Given the description of an element on the screen output the (x, y) to click on. 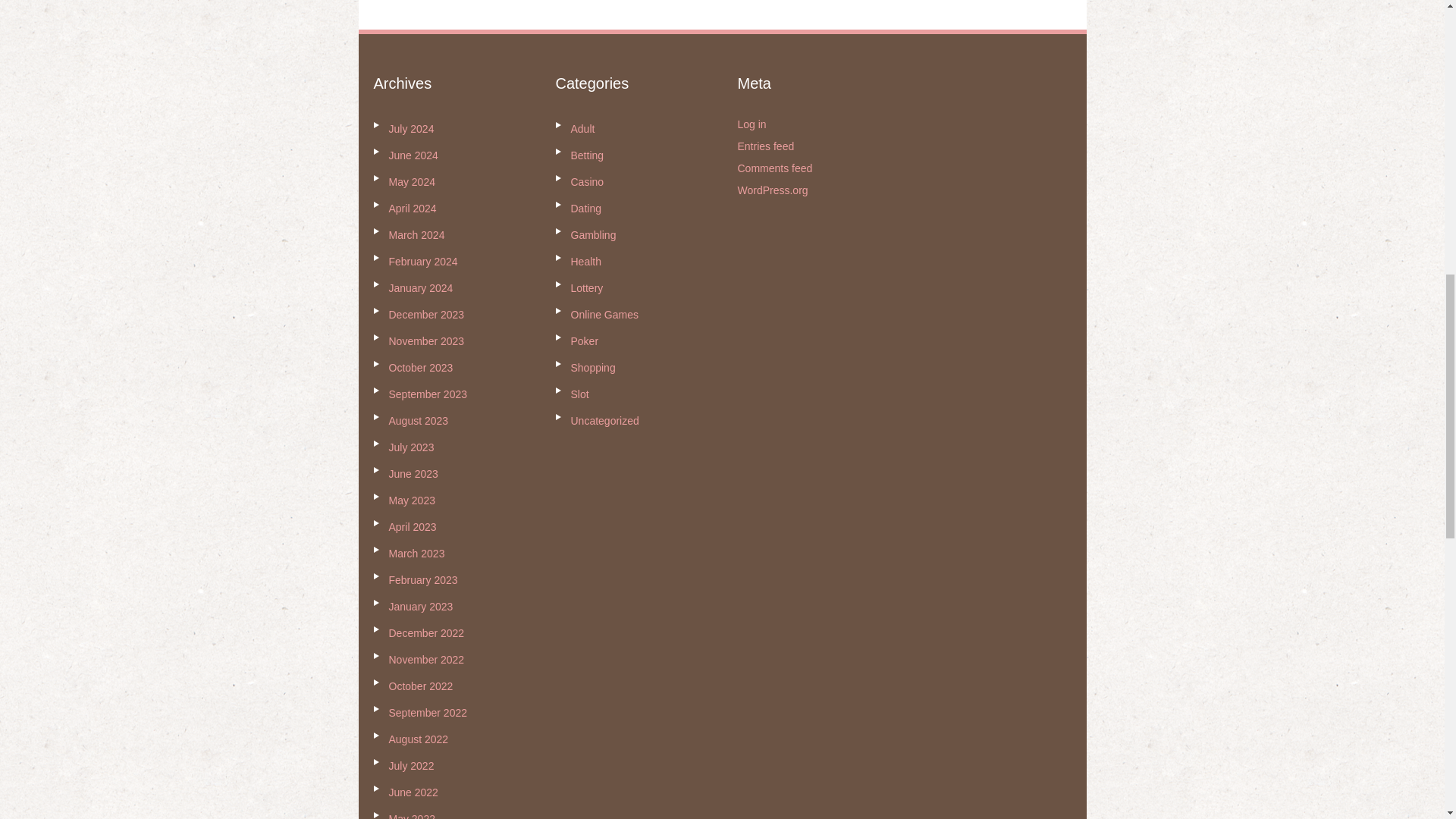
November 2023 (426, 340)
August 2023 (418, 420)
December 2022 (426, 633)
May 2024 (410, 182)
July 2024 (410, 128)
July 2022 (410, 766)
October 2022 (420, 686)
January 2024 (420, 287)
April 2024 (411, 208)
July 2023 (410, 447)
